Given the description of an element on the screen output the (x, y) to click on. 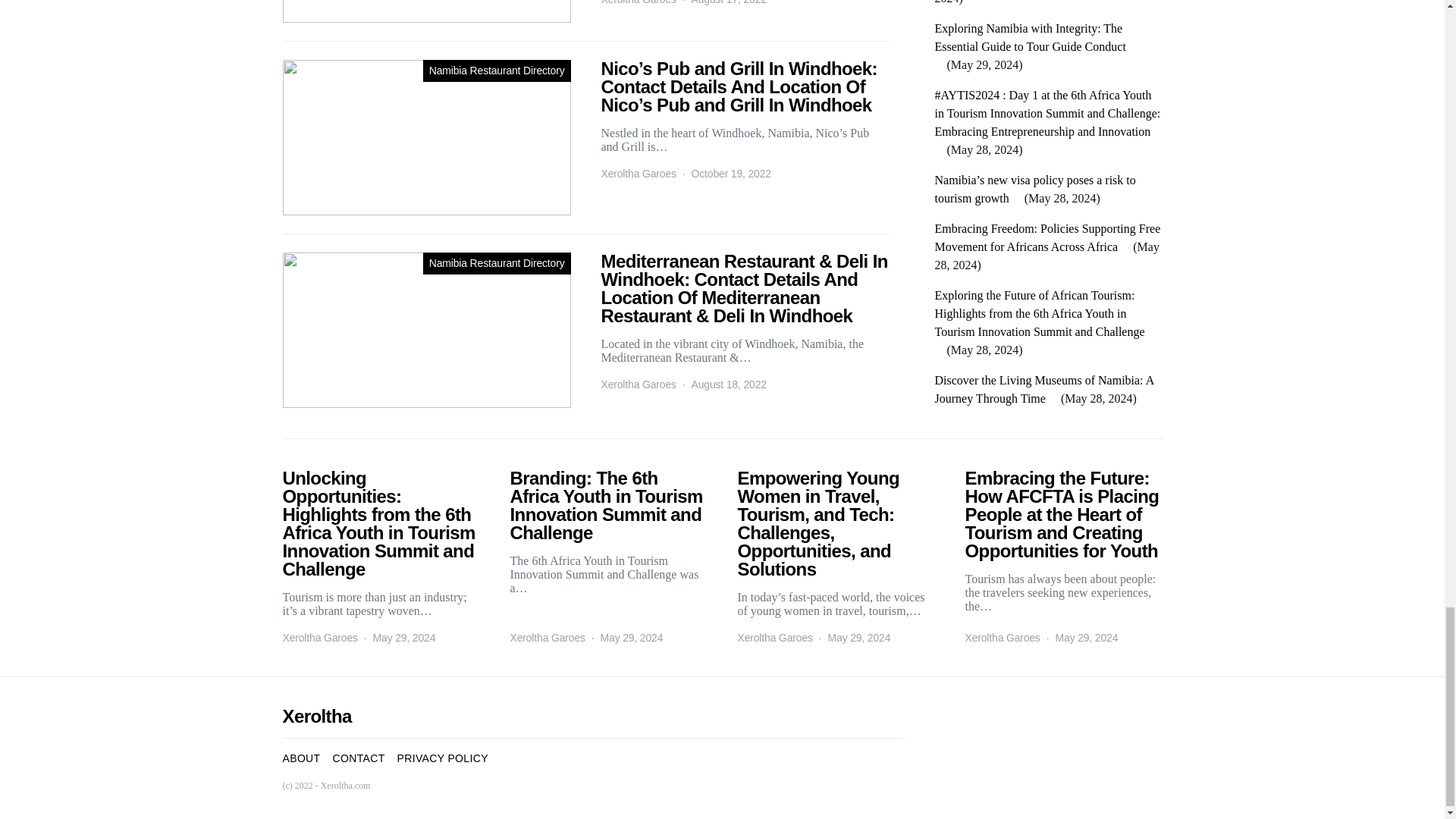
View all posts by Xeroltha Garoes (547, 637)
View all posts by Xeroltha Garoes (637, 173)
View all posts by Xeroltha Garoes (637, 3)
View all posts by Xeroltha Garoes (319, 637)
View all posts by Xeroltha Garoes (1001, 637)
View all posts by Xeroltha Garoes (774, 637)
View all posts by Xeroltha Garoes (637, 384)
Xeroltha Garoes (637, 3)
